Given the description of an element on the screen output the (x, y) to click on. 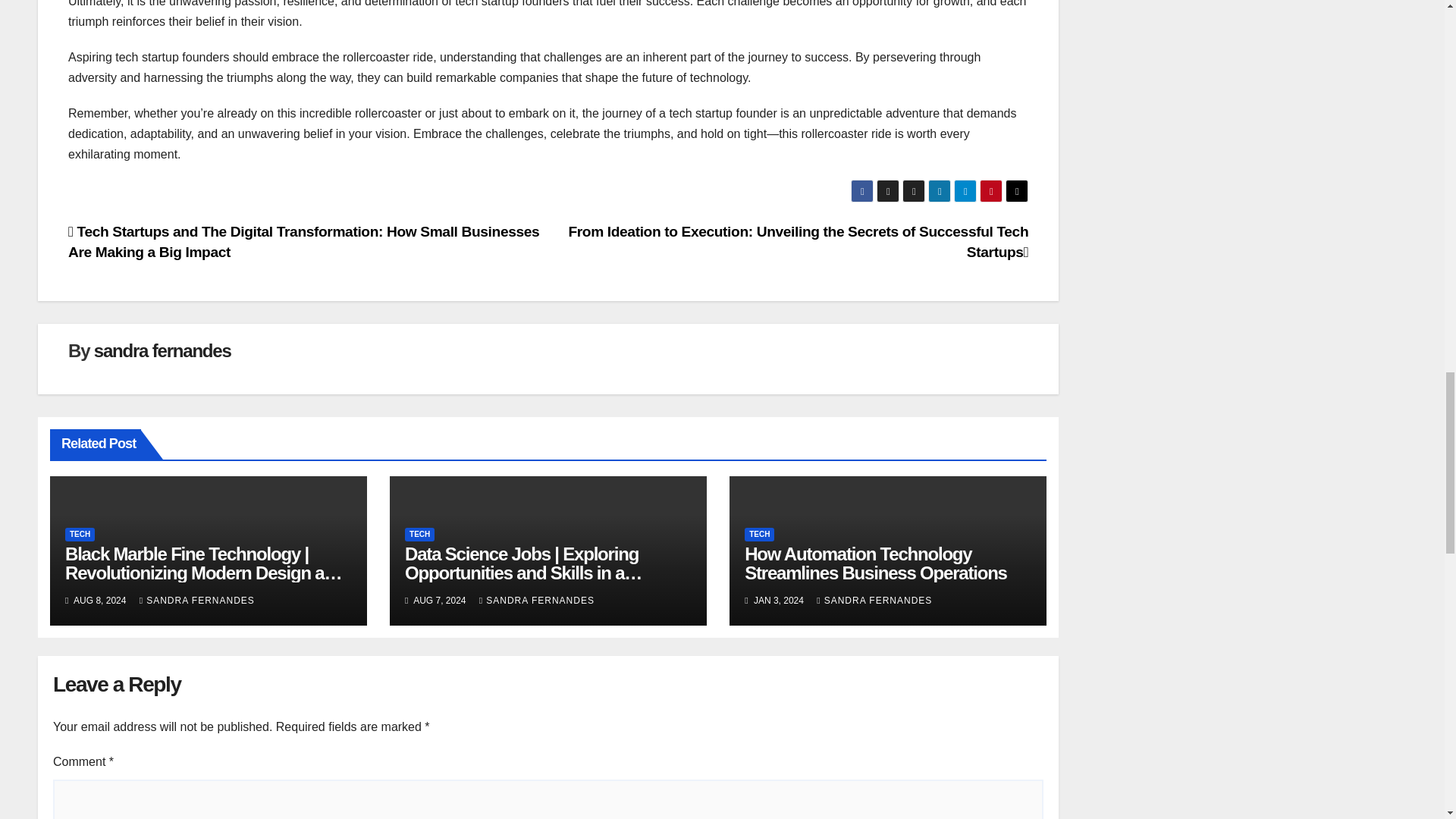
TECH (418, 534)
SANDRA FERNANDES (196, 600)
How Automation Technology Streamlines Business Operations (875, 563)
sandra fernandes (162, 350)
SANDRA FERNANDES (536, 600)
SANDRA FERNANDES (873, 600)
TECH (79, 534)
TECH (759, 534)
